Given the description of an element on the screen output the (x, y) to click on. 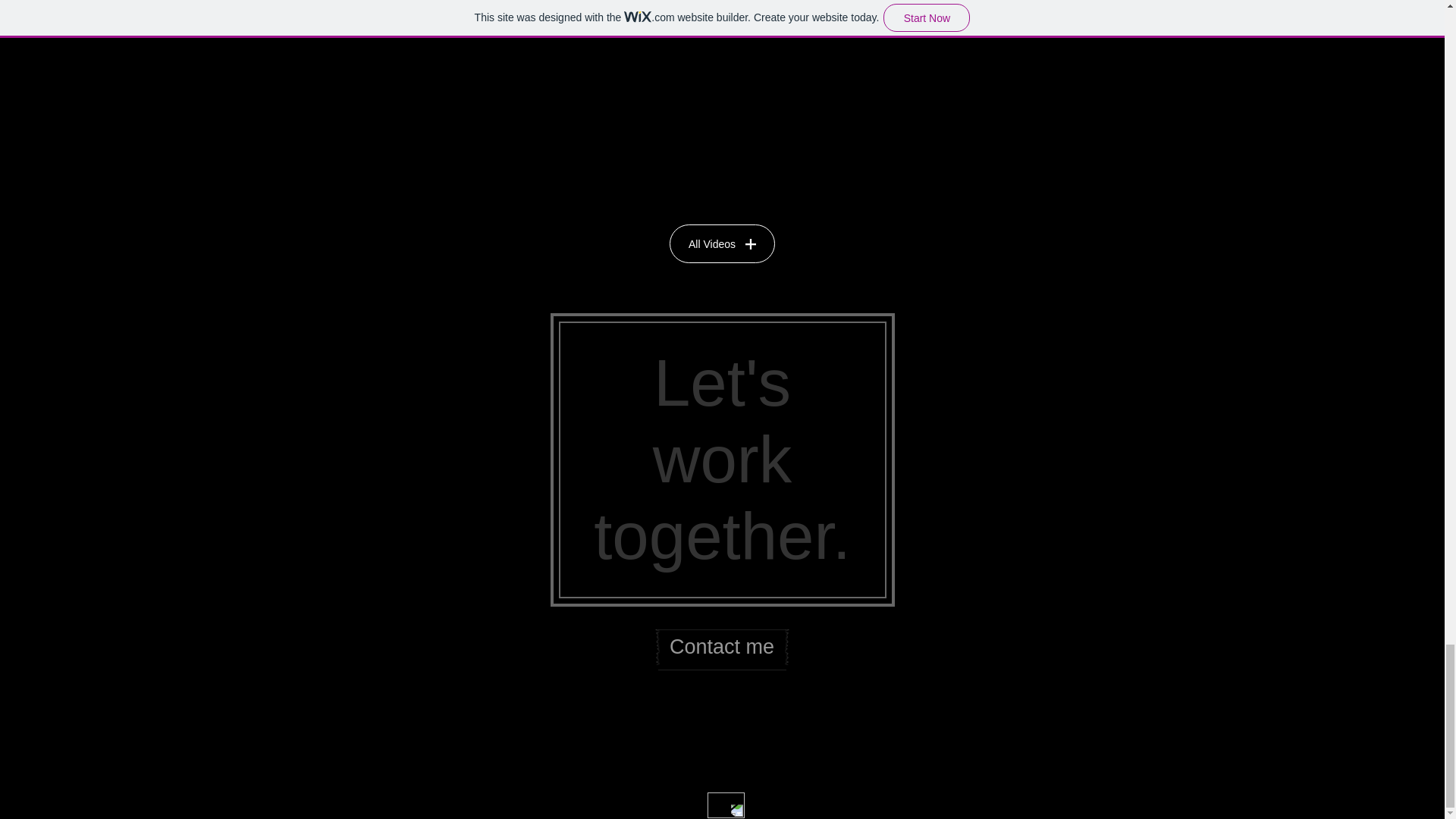
Play Video (722, 9)
All Videos (721, 243)
Contact me (721, 647)
